Given the description of an element on the screen output the (x, y) to click on. 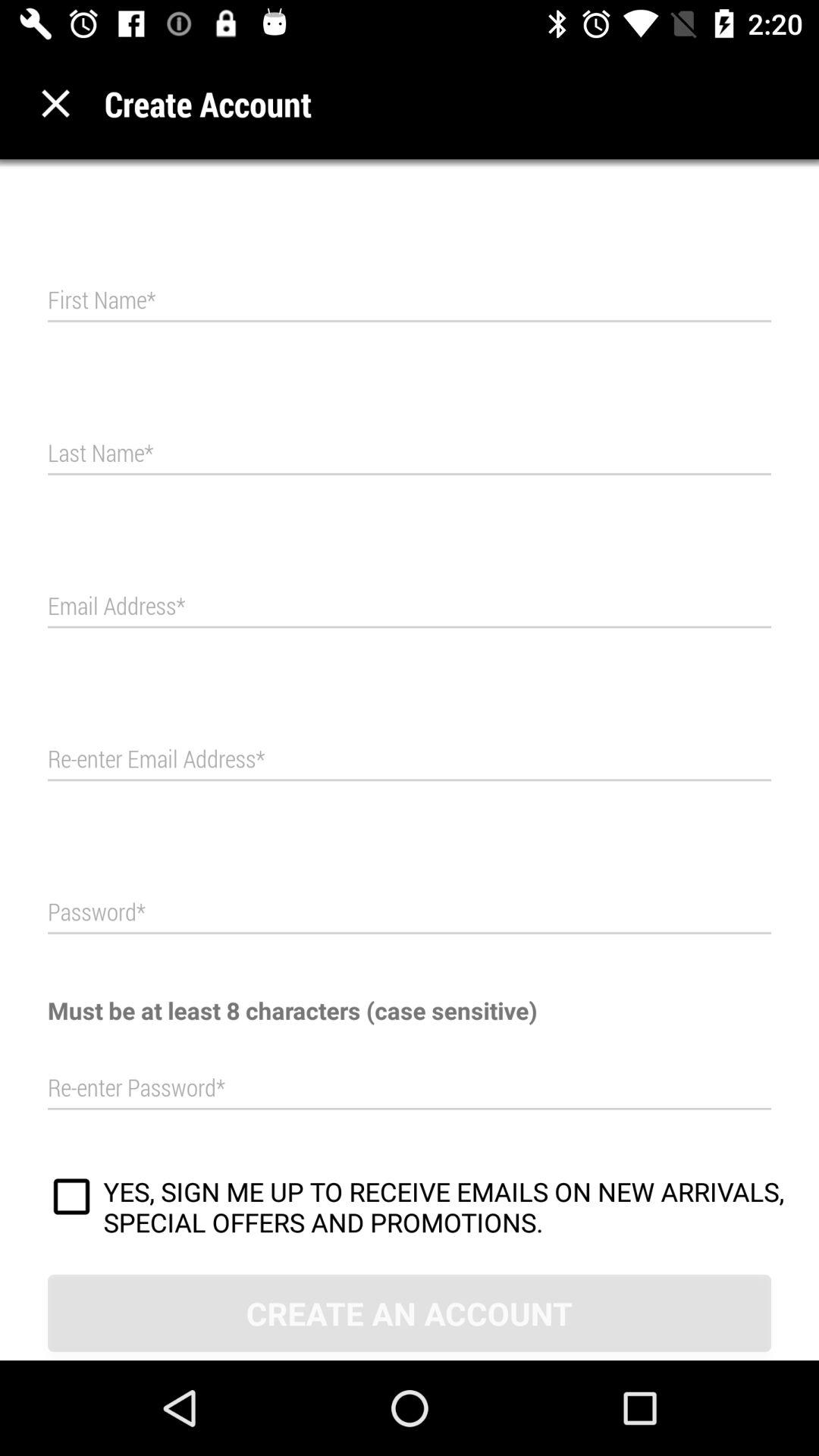
re-enter password (409, 1088)
